Given the description of an element on the screen output the (x, y) to click on. 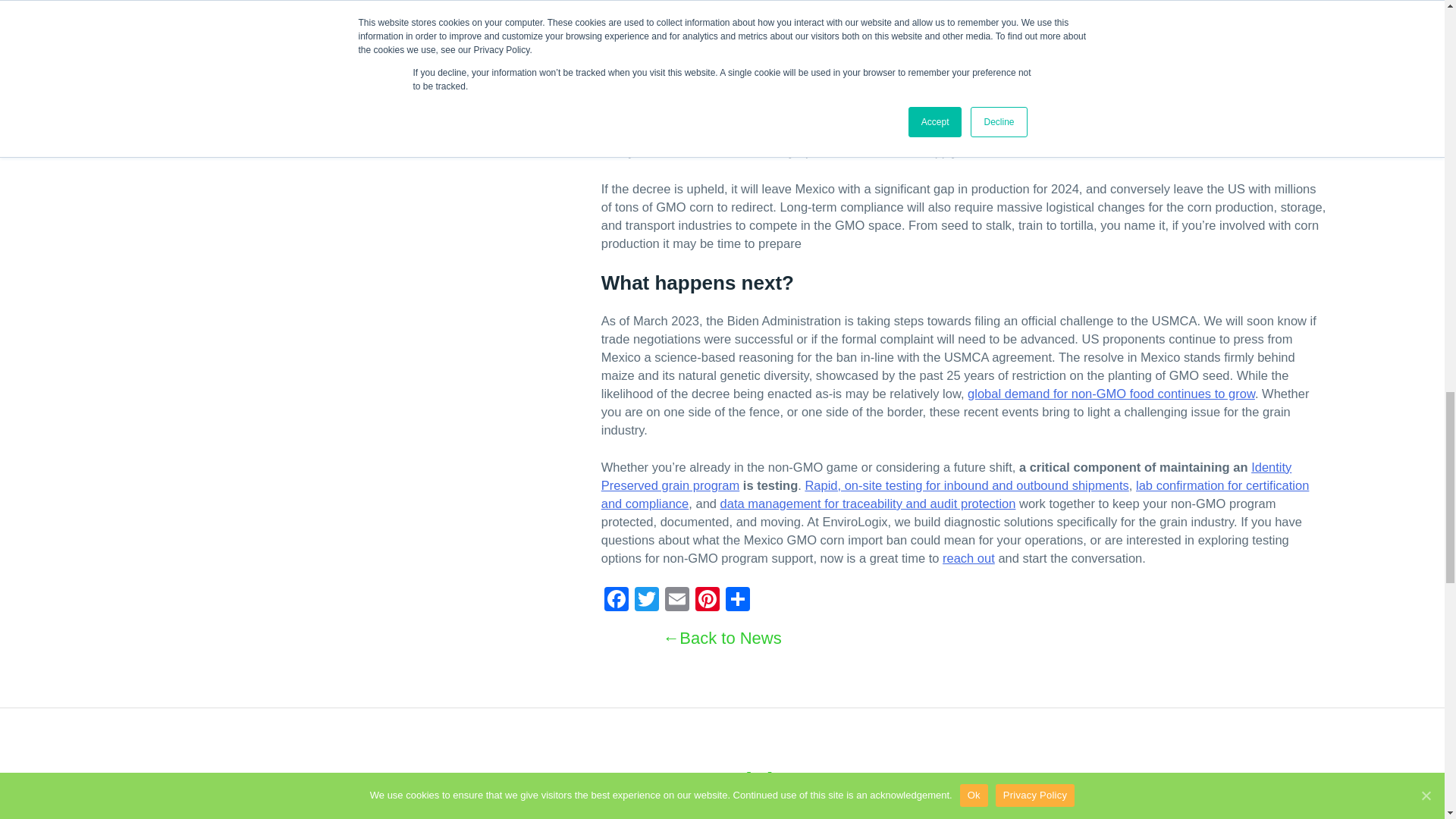
Twitter (646, 601)
Facebook (616, 601)
Pinterest (707, 601)
Email (677, 601)
